Given the description of an element on the screen output the (x, y) to click on. 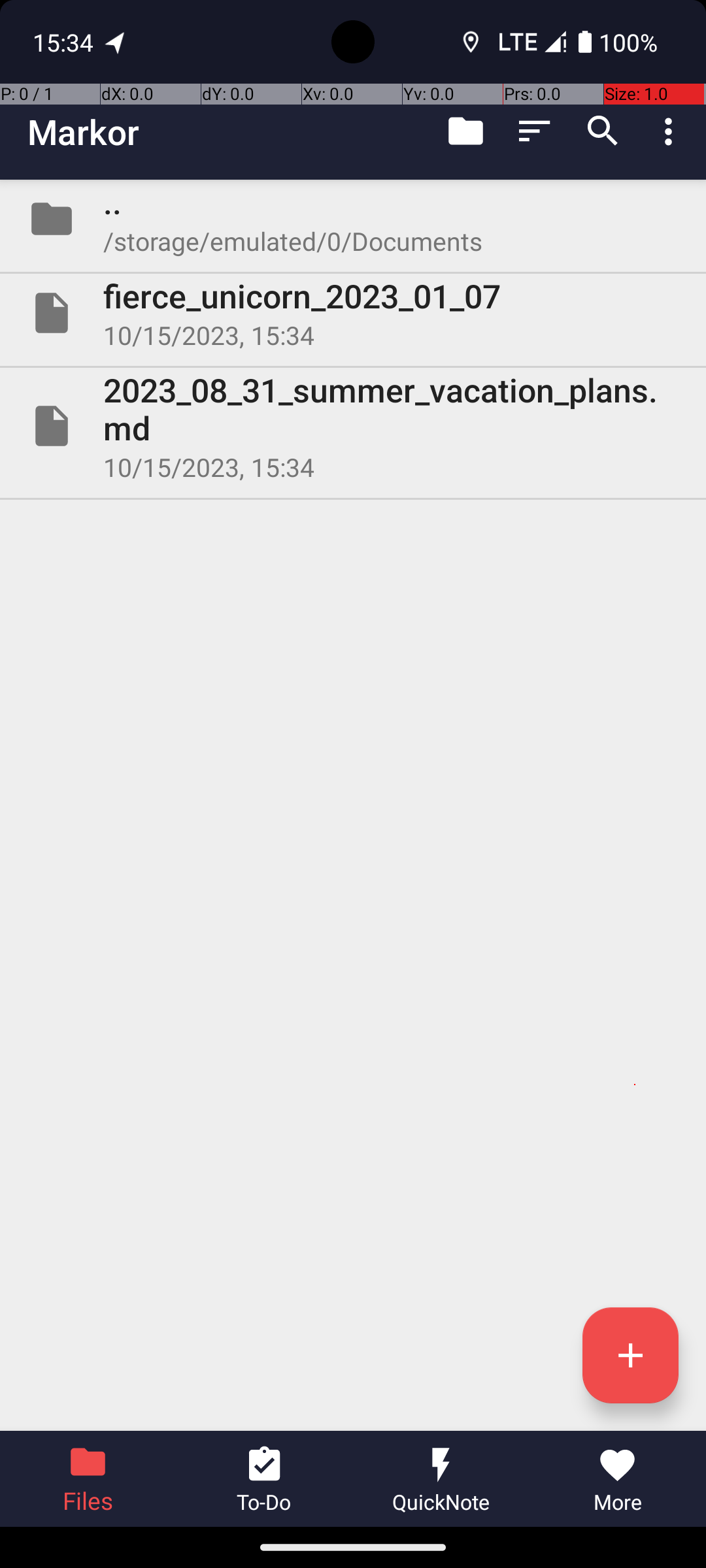
File fierce_unicorn_2023_01_07  Element type: android.widget.LinearLayout (353, 312)
File 2023_08_31_summer_vacation_plans.md  Element type: android.widget.LinearLayout (353, 425)
